Given the description of an element on the screen output the (x, y) to click on. 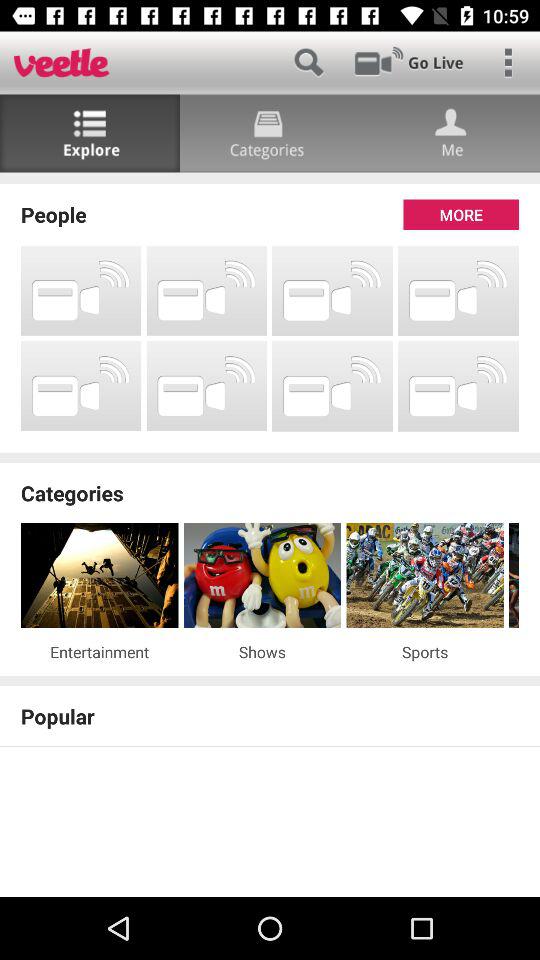
to go to person 's own profile (450, 133)
